Given the description of an element on the screen output the (x, y) to click on. 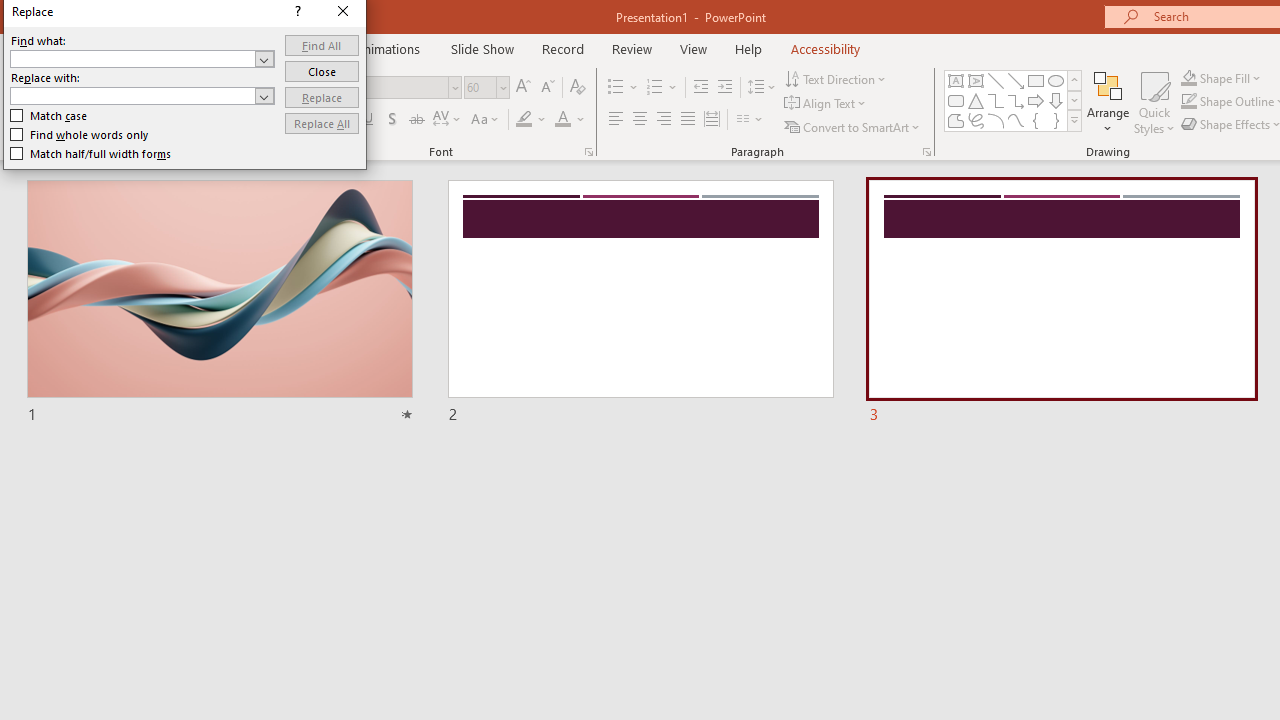
Match half/full width forms (91, 154)
Replace (321, 96)
Replace All (321, 123)
